Given the description of an element on the screen output the (x, y) to click on. 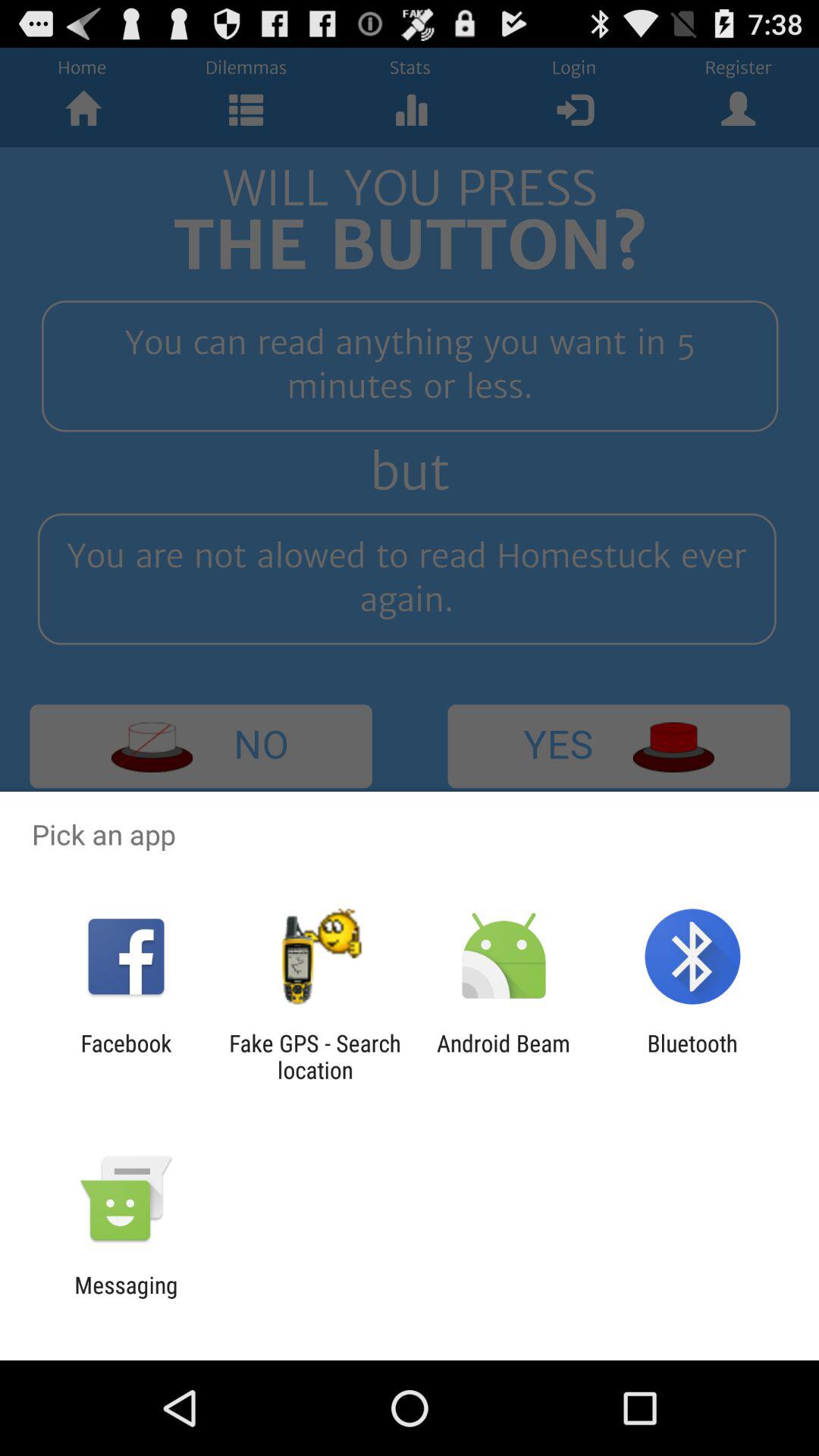
swipe to messaging app (126, 1298)
